Given the description of an element on the screen output the (x, y) to click on. 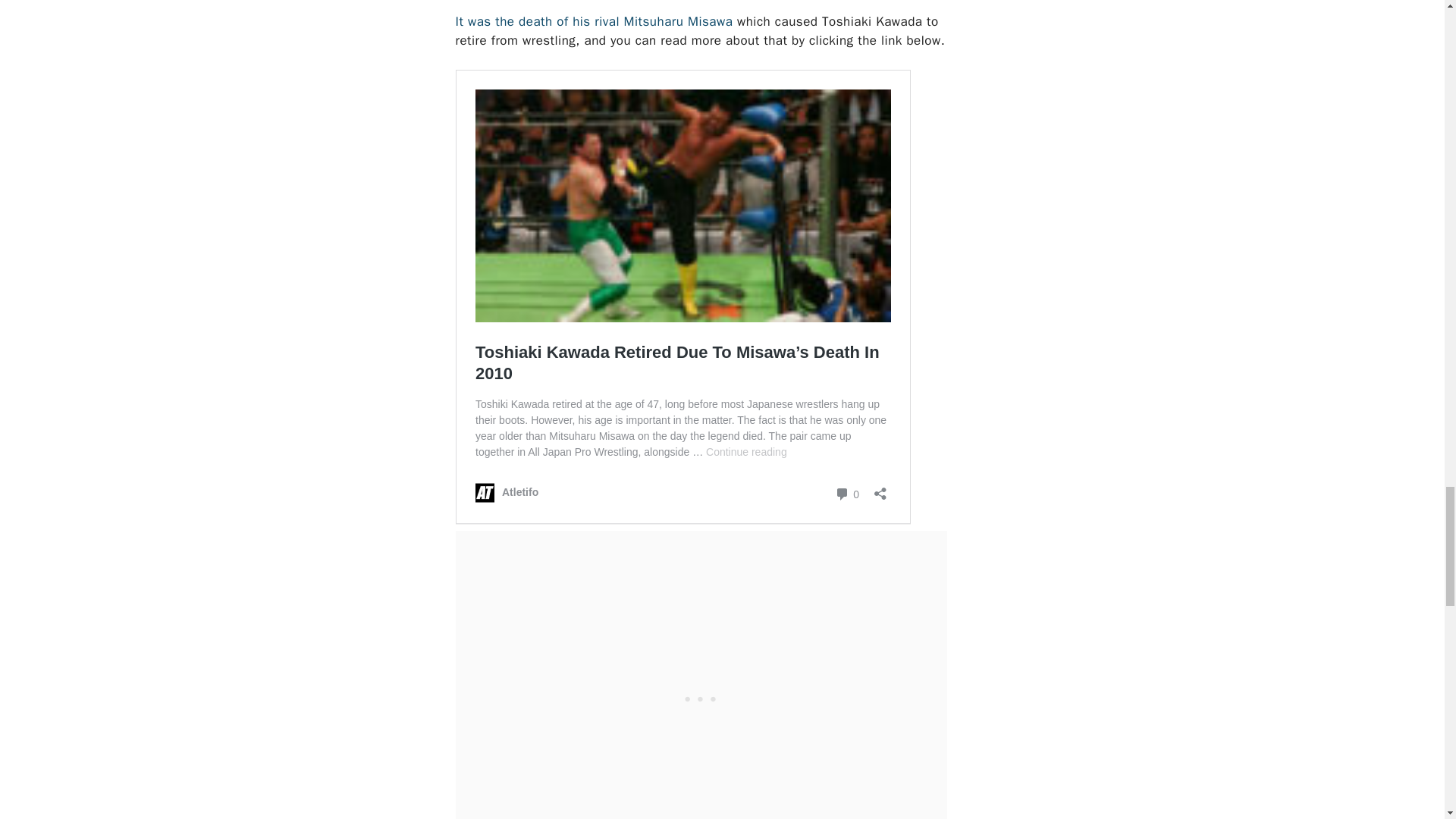
It was the death of his rival Mitsuharu Misawa (593, 21)
